Given the description of an element on the screen output the (x, y) to click on. 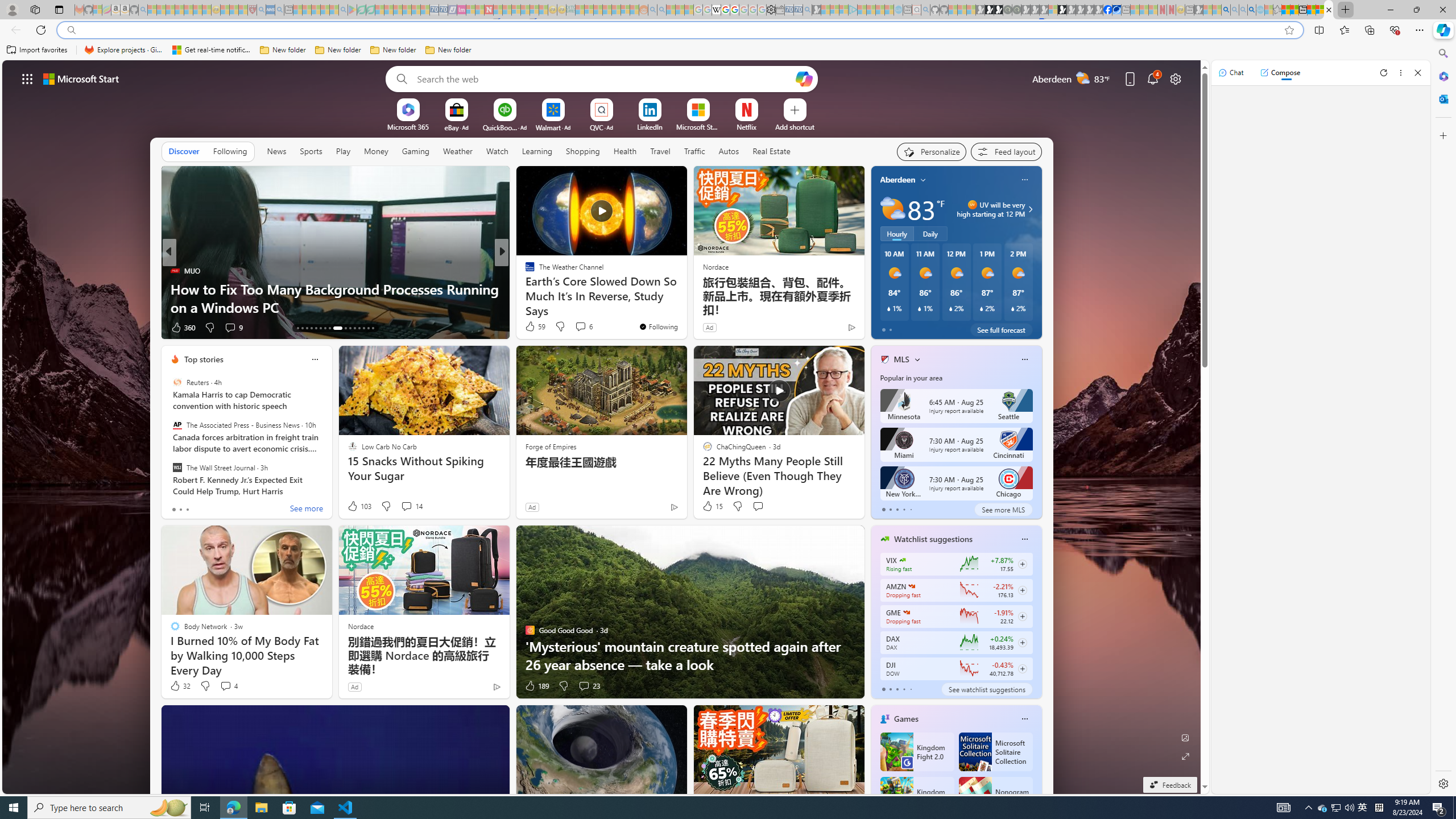
Autos (729, 151)
You're following The Weather Channel (657, 326)
View comments 9 Comment (233, 327)
Shopping (582, 151)
Kingdom Fight 2.0 (916, 751)
Play Zoo Boom in your browser | Games from Microsoft Start (988, 9)
View comments 4 Comment (225, 685)
